Given the description of an element on the screen output the (x, y) to click on. 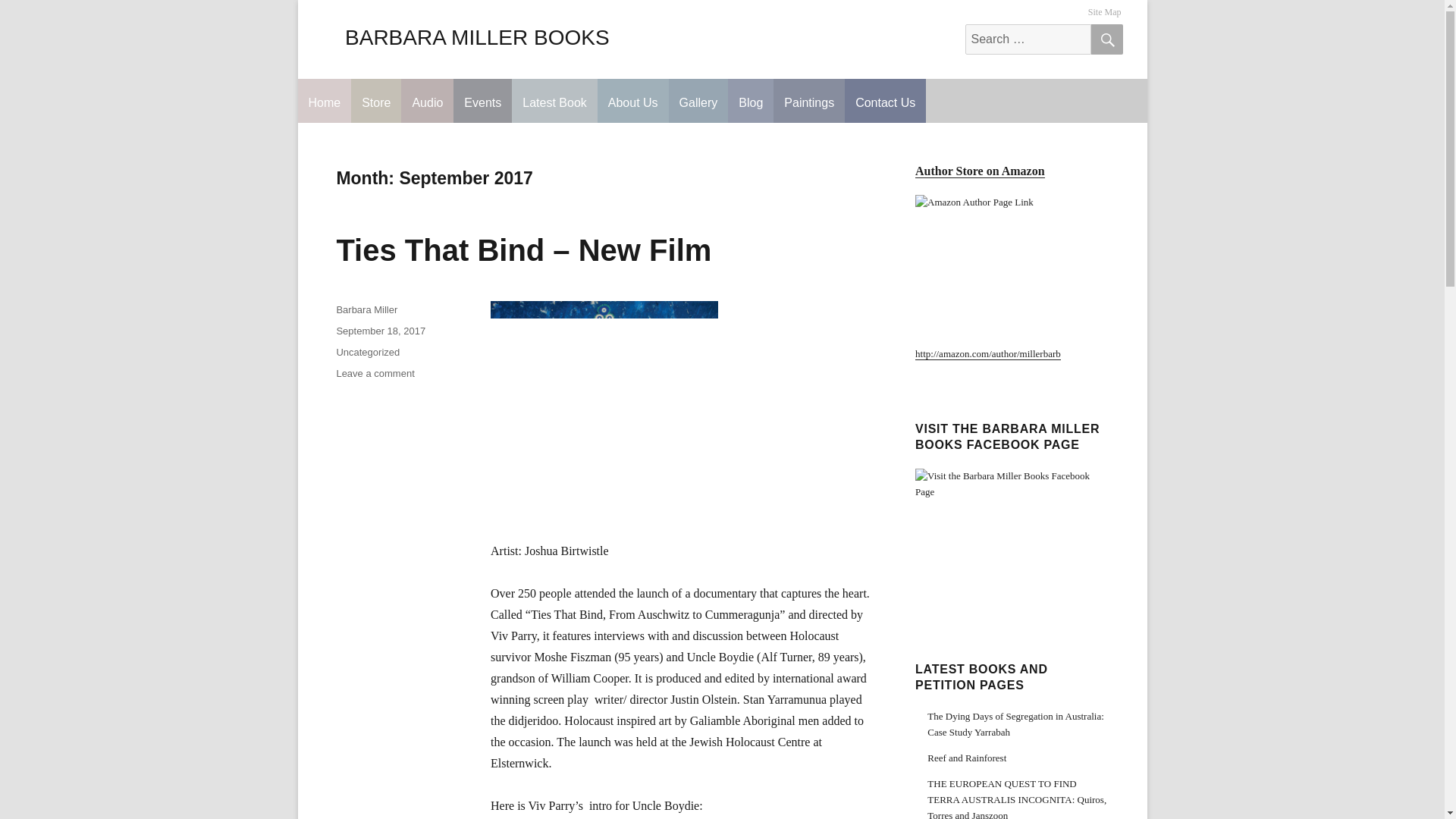
Reef and Rainforest (966, 757)
About Us (632, 100)
Site Map (1105, 12)
BARBARA MILLER BOOKS (477, 37)
Blog (750, 100)
Author Store on Amazon (980, 170)
Events (482, 100)
Audio (426, 100)
Gallery (698, 100)
Barbara Miller (366, 309)
SEARCH (1106, 39)
Store (375, 100)
September 18, 2017 (380, 330)
Home (323, 100)
